Given the description of an element on the screen output the (x, y) to click on. 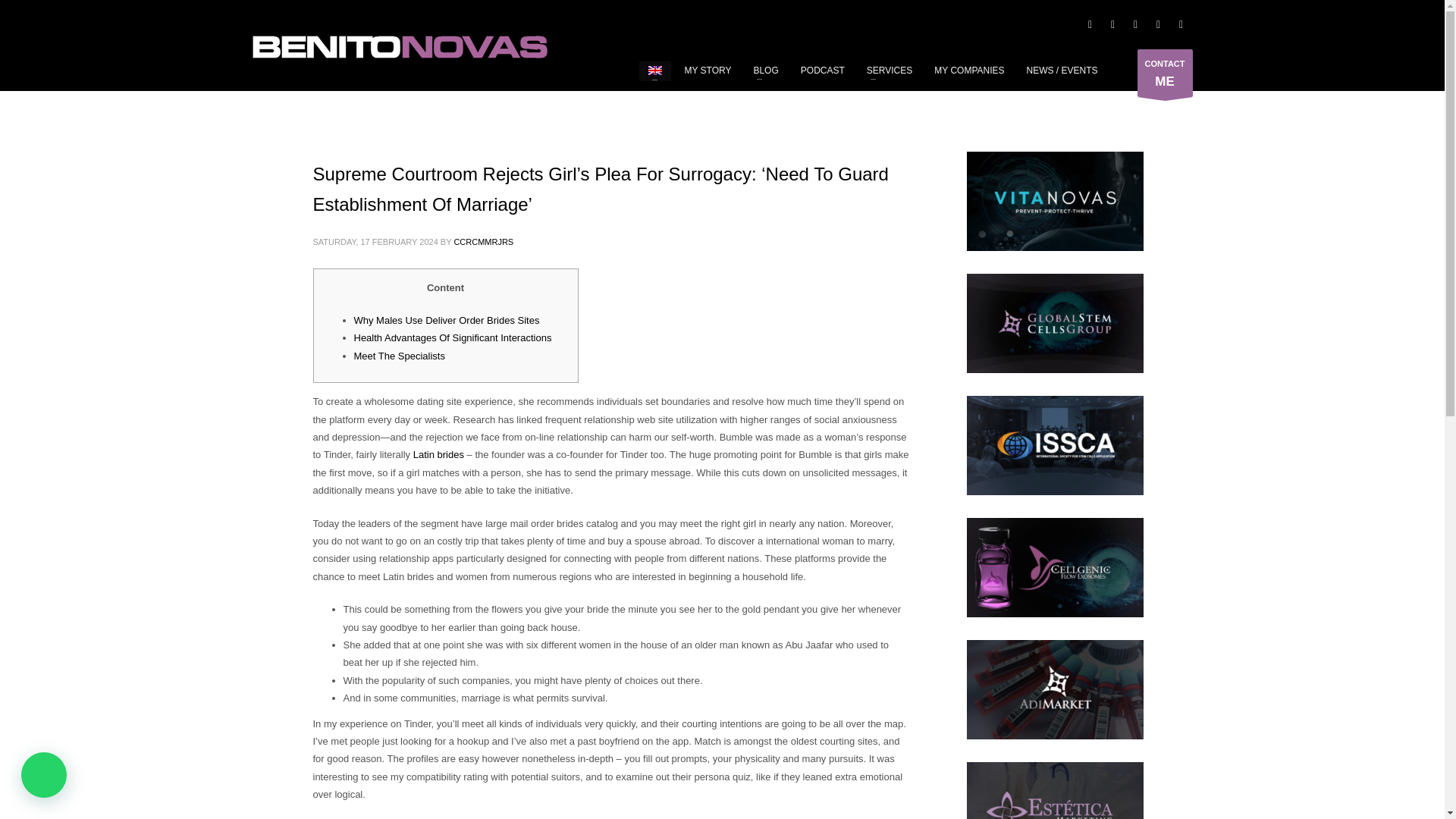
Health Advantages Of Significant Interactions (452, 337)
PODCAST (822, 70)
MY COMPANIES (968, 70)
Twitter (1158, 24)
Posts by CCRCMmRJRs (482, 241)
Corporate Page (1164, 73)
Facebook (399, 47)
SERVICES (1089, 24)
Youtube (889, 70)
Instagram (1135, 24)
Meet The Specialists (1112, 24)
Latin brides (398, 355)
BLOG (438, 454)
CCRCMMRJRS (765, 70)
